Given the description of an element on the screen output the (x, y) to click on. 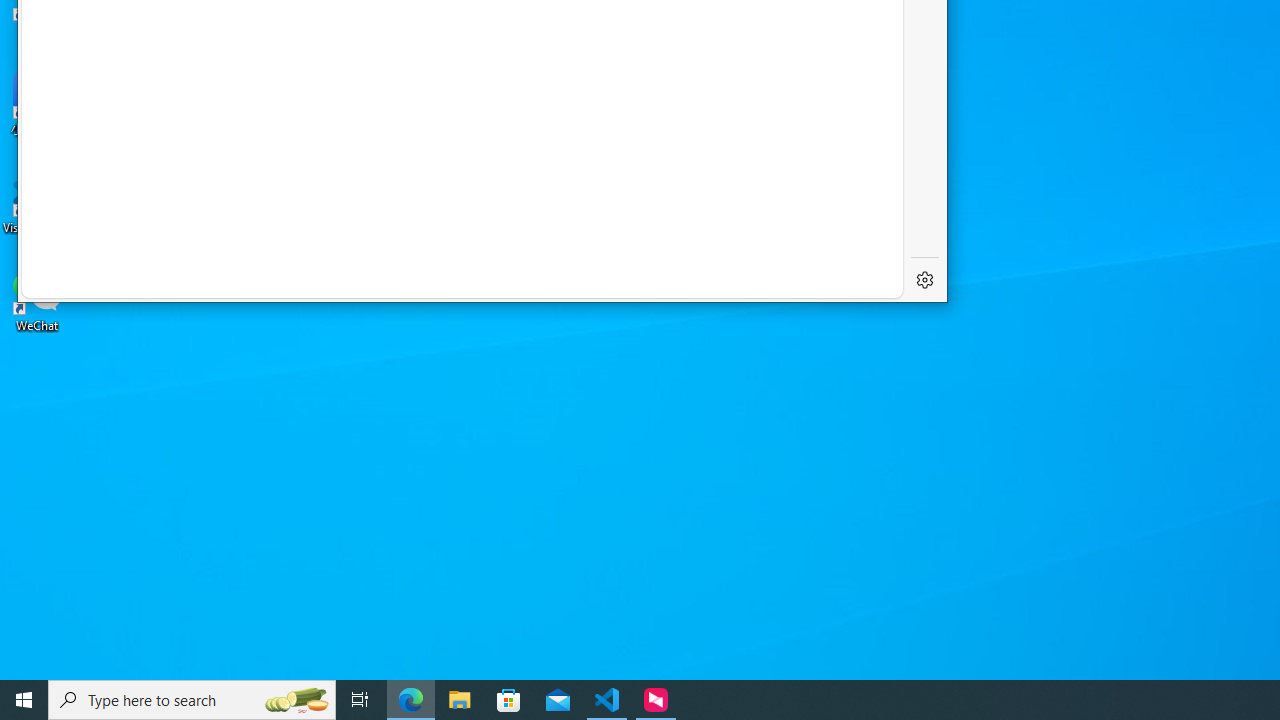
Microsoft Edge - 1 running window (411, 699)
Task View (359, 699)
Start (24, 699)
Type here to search (191, 699)
File Explorer (460, 699)
Search highlights icon opens search home window (295, 699)
Microsoft Store (509, 699)
Visual Studio Code - 1 running window (607, 699)
